Given the description of an element on the screen output the (x, y) to click on. 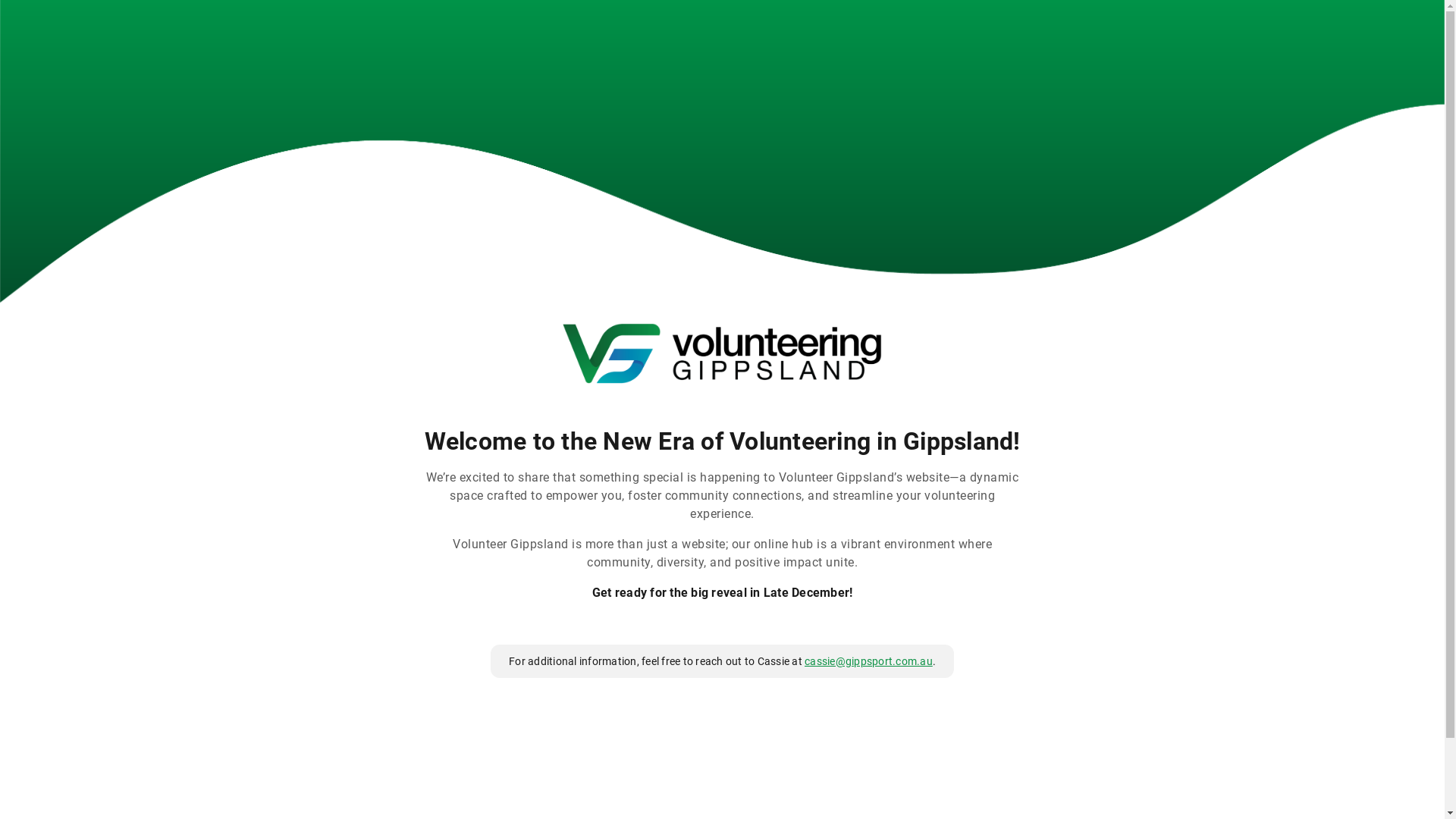
cassie@gippsport.com.au Element type: text (868, 661)
